Given the description of an element on the screen output the (x, y) to click on. 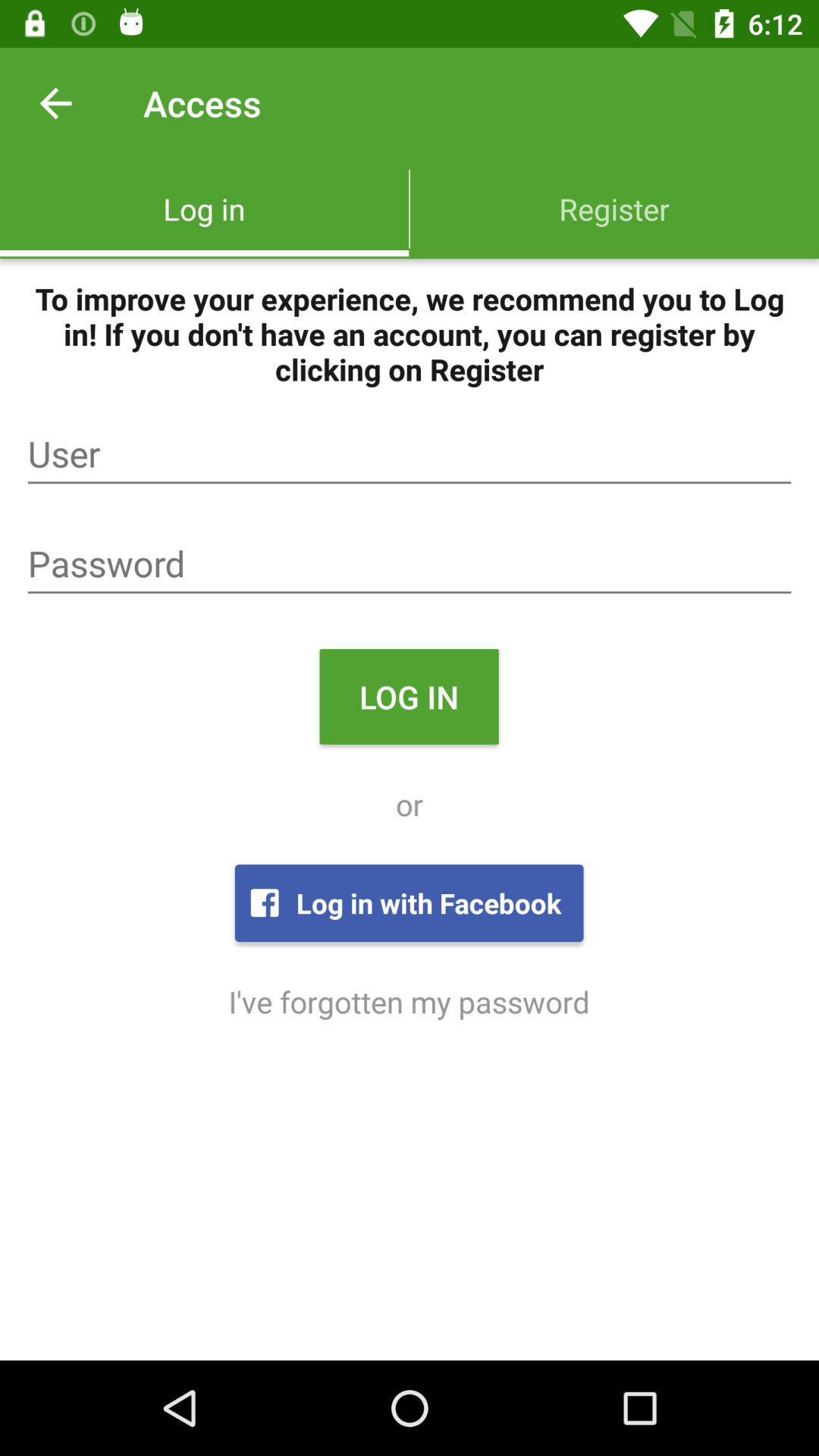
turn on i ve forgotten icon (408, 1001)
